Given the description of an element on the screen output the (x, y) to click on. 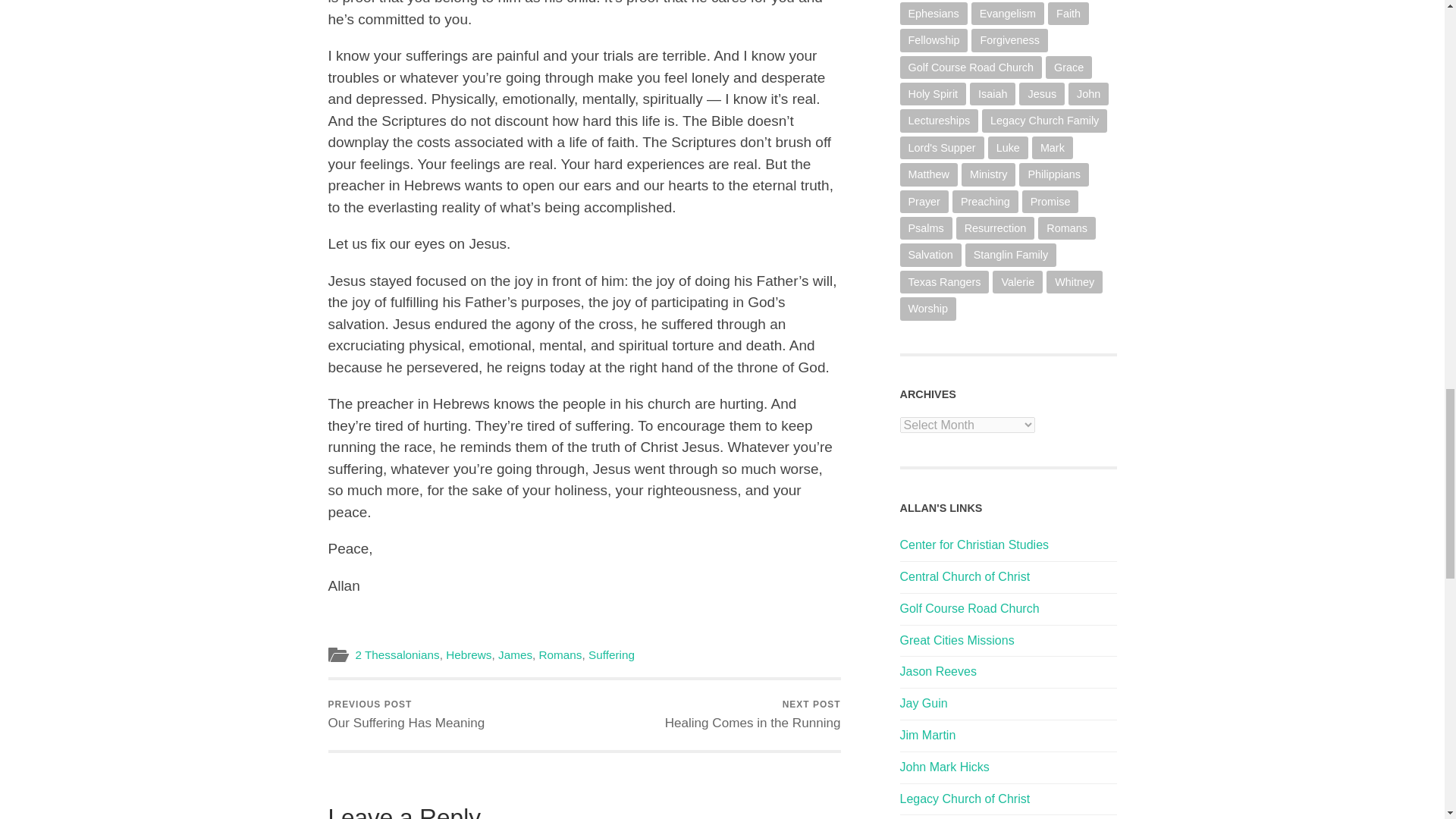
John Mark Hicks Ministries (943, 766)
One in Jesus (923, 703)
Romans (560, 654)
2 Thessalonians (405, 714)
GCR Church (397, 654)
Equipping and Encouraging Missionaries and Church Planters (969, 608)
CCS (956, 640)
God Hungry (973, 544)
Suffering (927, 735)
James (611, 654)
Legacy Church of Christ in North Richland Hills, Texas (514, 654)
Hebrews (964, 798)
Central Church of Christ in Amarillo, Texas (753, 714)
